Given the description of an element on the screen output the (x, y) to click on. 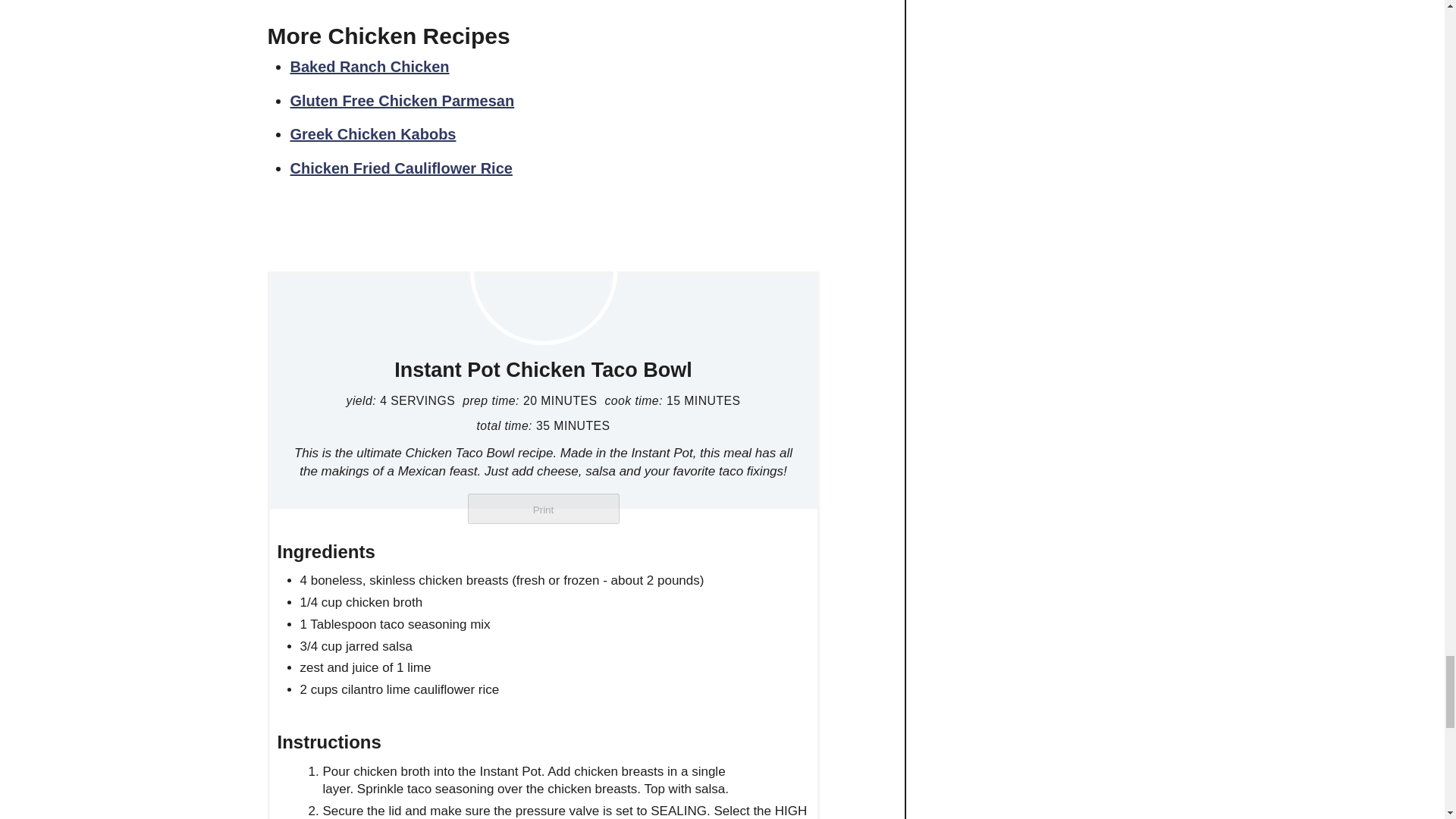
Chicken Fried Cauliflower Rice (400, 167)
Print (542, 508)
Gluten Free Chicken Parmesan (401, 100)
Baked Ranch Chicken (368, 66)
Greek Chicken Kabobs (372, 134)
